Given the description of an element on the screen output the (x, y) to click on. 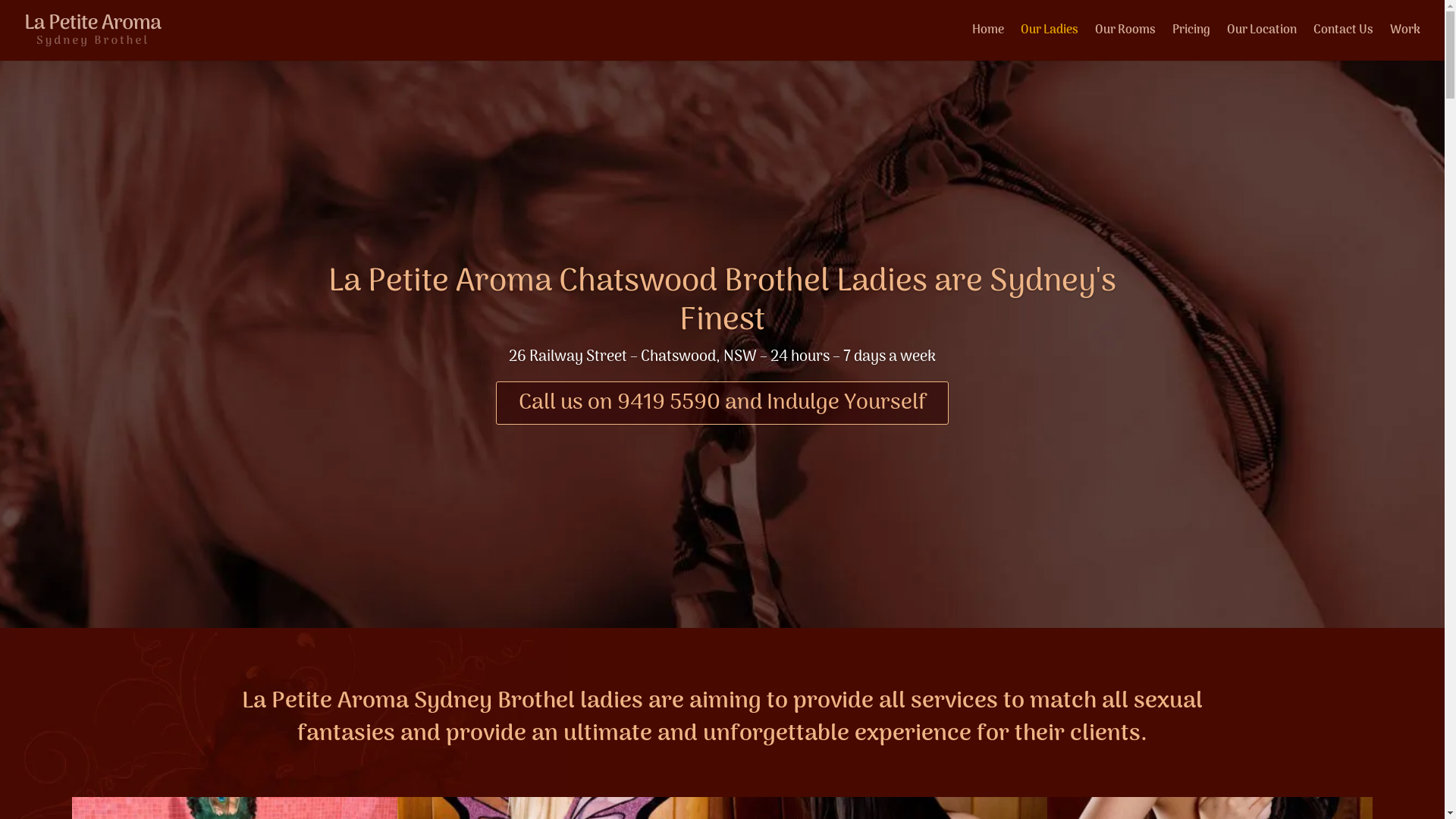
Pricing Element type: text (1191, 42)
Our Ladies Element type: text (1049, 42)
Our Rooms Element type: text (1125, 42)
Work Element type: text (1405, 42)
La Petite Aroma Chatswood Brothel Ladies are Sydney's Finest Element type: text (722, 301)
Home Element type: text (988, 42)
Our Location Element type: text (1261, 42)
Contact Us Element type: text (1343, 42)
Call us on 9419 5590 and Indulge Yourself Element type: text (722, 402)
